Given the description of an element on the screen output the (x, y) to click on. 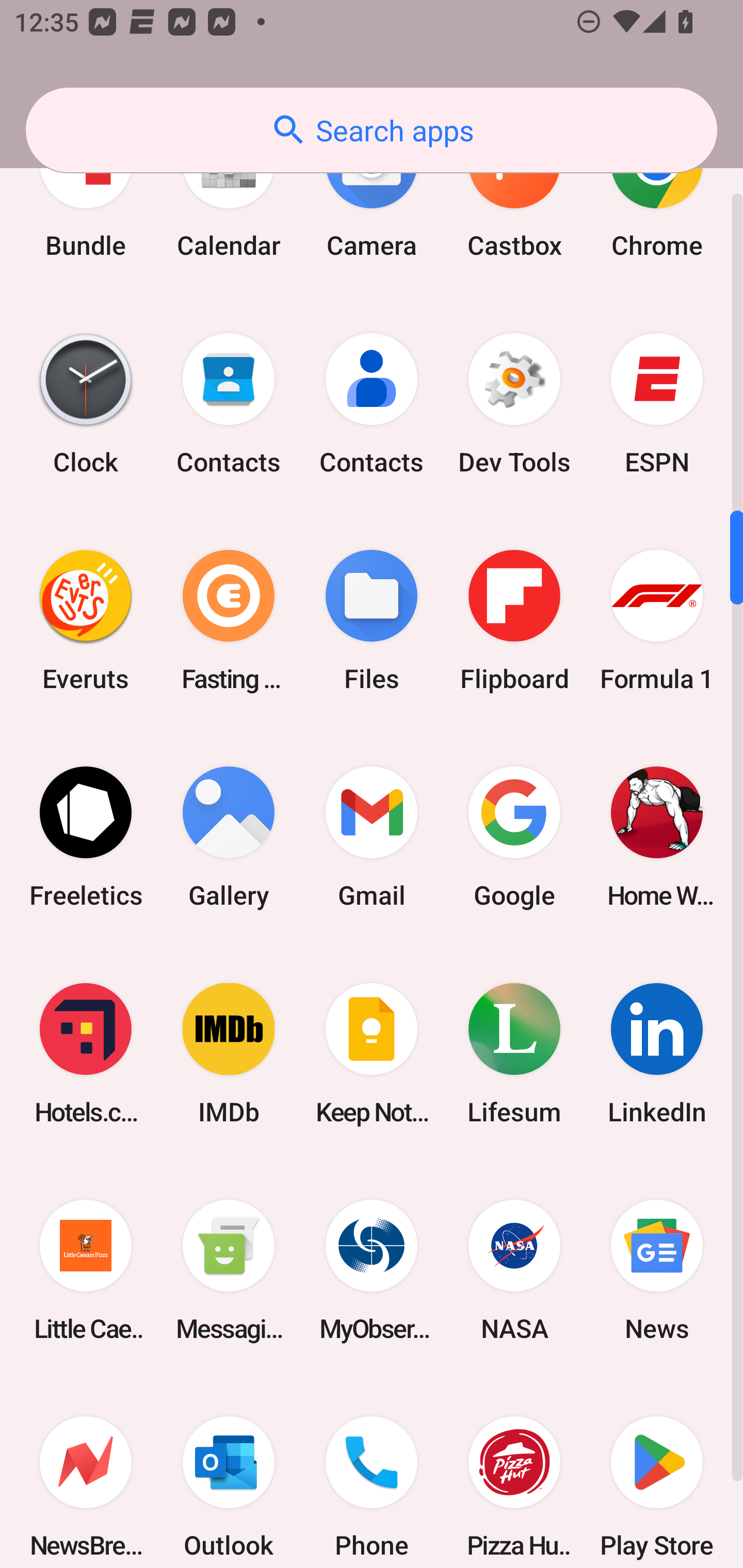
  Search apps (371, 130)
Clock (85, 403)
Contacts (228, 403)
Contacts (371, 403)
Dev Tools (514, 403)
ESPN (656, 403)
Everuts (85, 620)
Fasting Coach (228, 620)
Files (371, 620)
Flipboard (514, 620)
Formula 1 (656, 620)
Freeletics (85, 837)
Gallery (228, 837)
Gmail (371, 837)
Google (514, 837)
Home Workout (656, 837)
Hotels.com (85, 1053)
IMDb (228, 1053)
Keep Notes (371, 1053)
Lifesum (514, 1053)
LinkedIn (656, 1053)
Little Caesars Pizza (85, 1269)
Messaging (228, 1269)
MyObservatory (371, 1269)
NASA (514, 1269)
News (656, 1269)
NewsBreak (85, 1473)
Outlook (228, 1473)
Phone (371, 1473)
Pizza Hut HK & Macau (514, 1473)
Play Store (656, 1473)
